Given the description of an element on the screen output the (x, y) to click on. 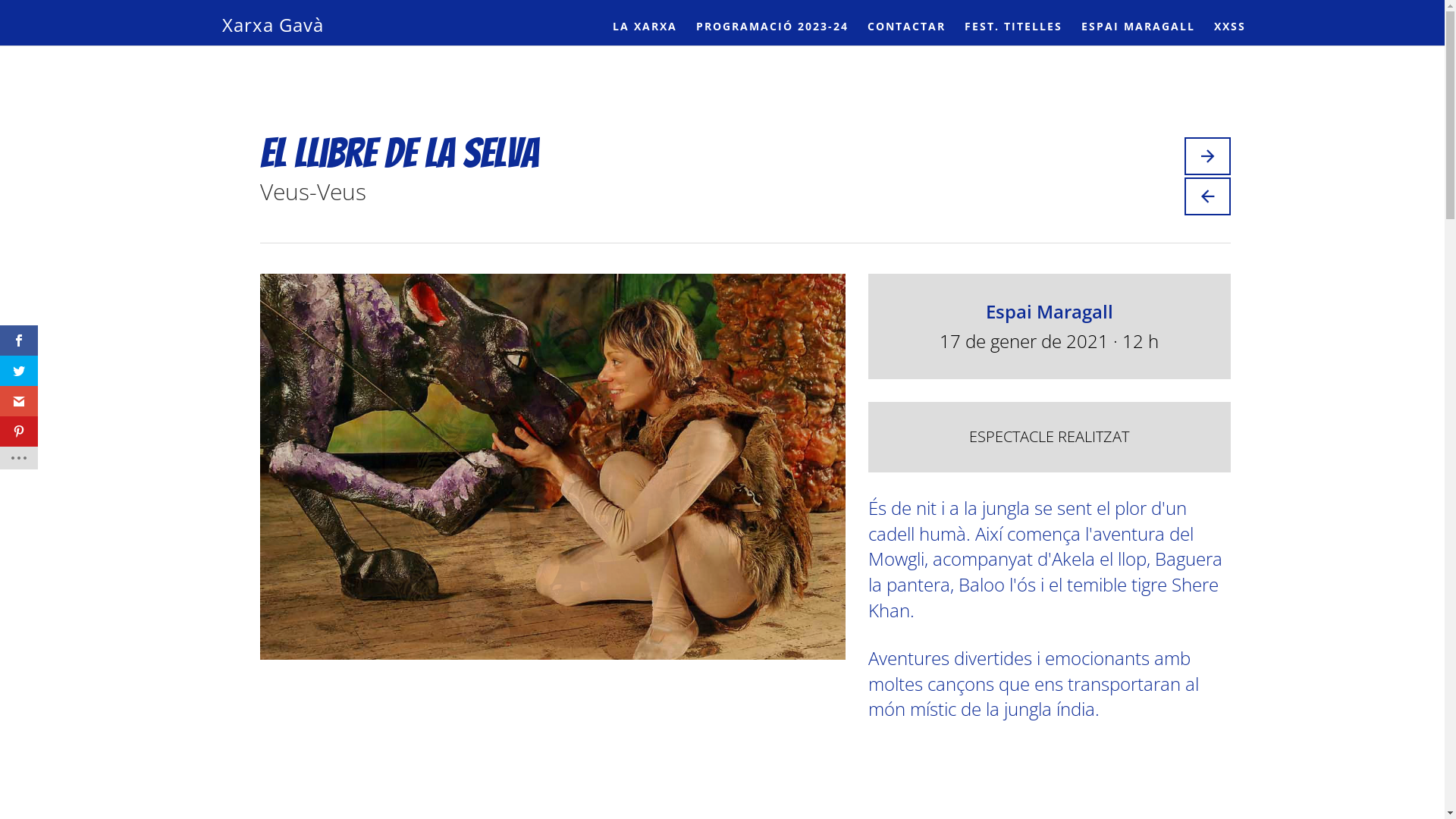
EL REI DE CASA Element type: hover (1207, 156)
Espai Maragall Element type: text (1049, 310)
Skip to primary navigation Element type: text (0, 0)
SOPA DE PEDRES Element type: hover (1207, 196)
